Given the description of an element on the screen output the (x, y) to click on. 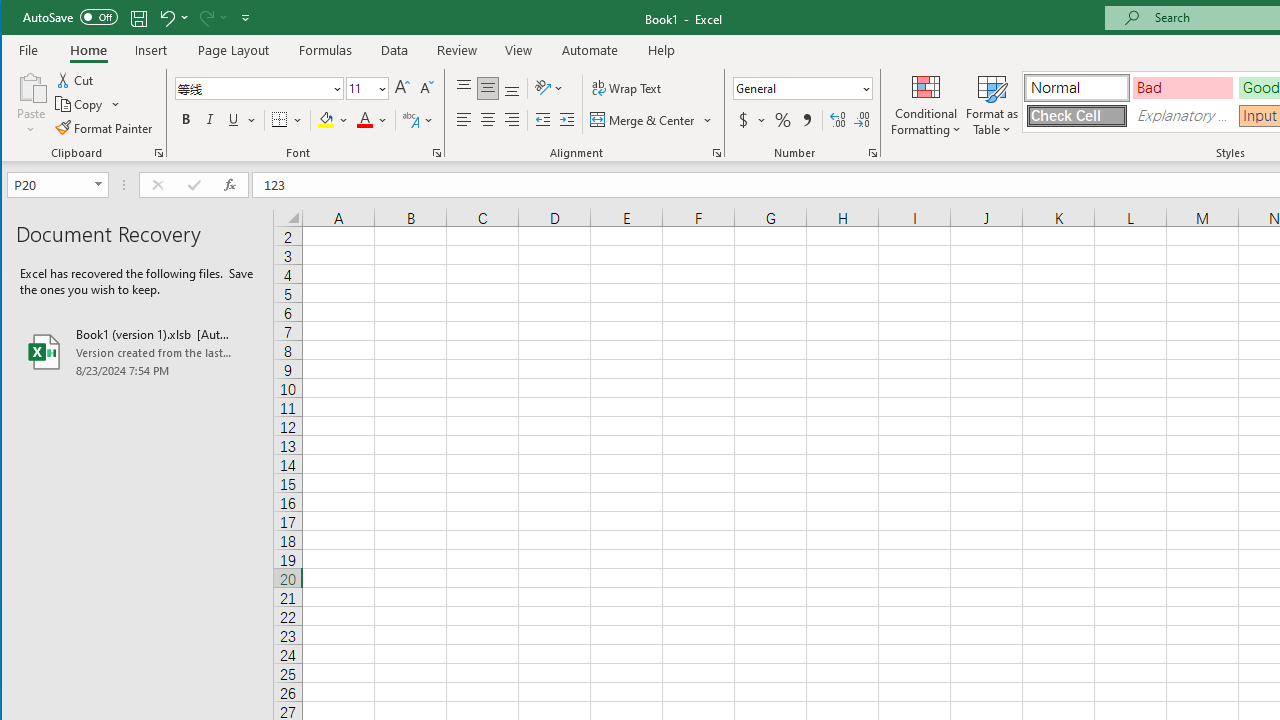
Decrease Decimal (861, 119)
Show Phonetic Field (417, 119)
Copy (80, 103)
Conditional Formatting (926, 104)
